Given the description of an element on the screen output the (x, y) to click on. 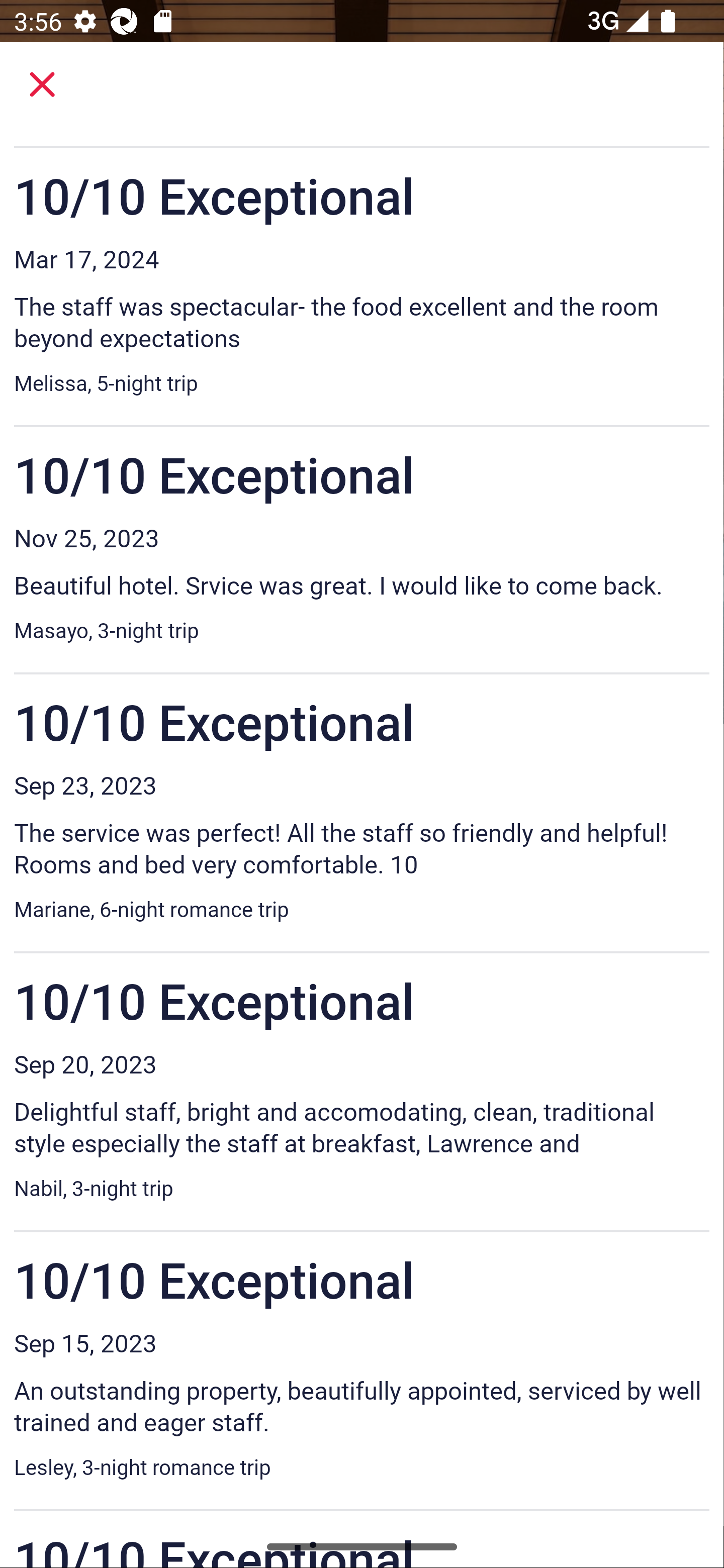
Close (42, 84)
